Given the description of an element on the screen output the (x, y) to click on. 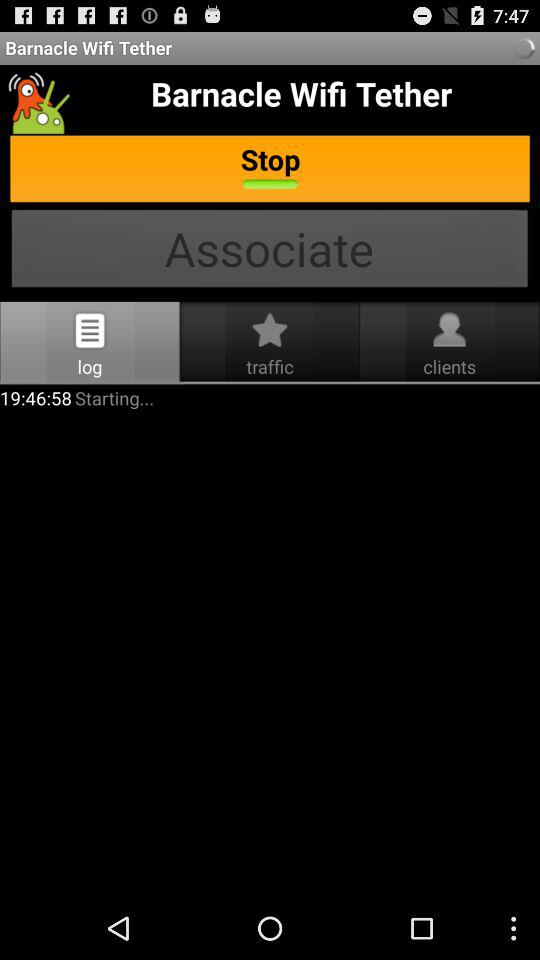
choose item above associate button (269, 170)
